Given the description of an element on the screen output the (x, y) to click on. 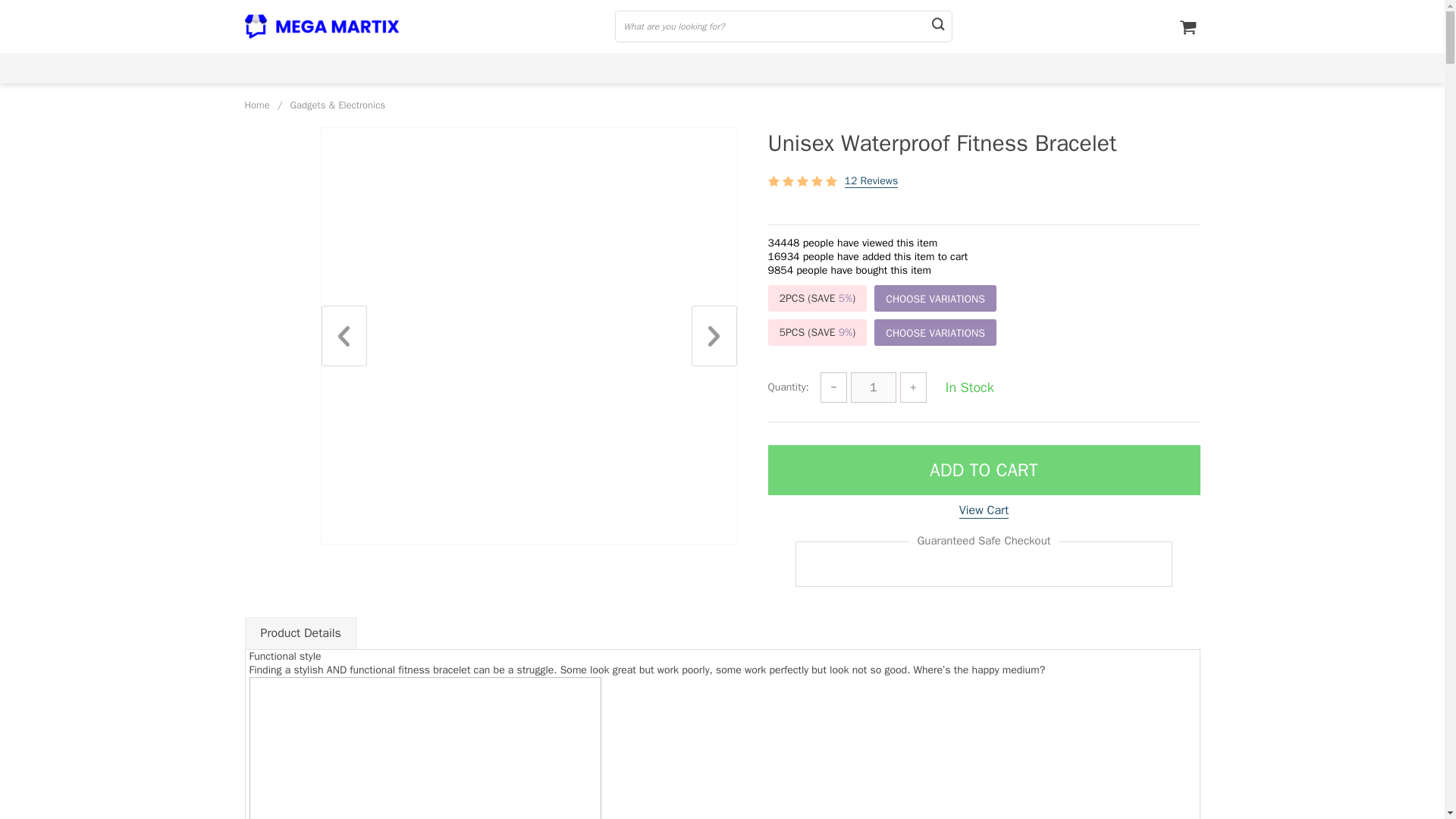
1 (873, 387)
1101-min (423, 748)
Home (256, 105)
ADD TO CART (983, 470)
